Given the description of an element on the screen output the (x, y) to click on. 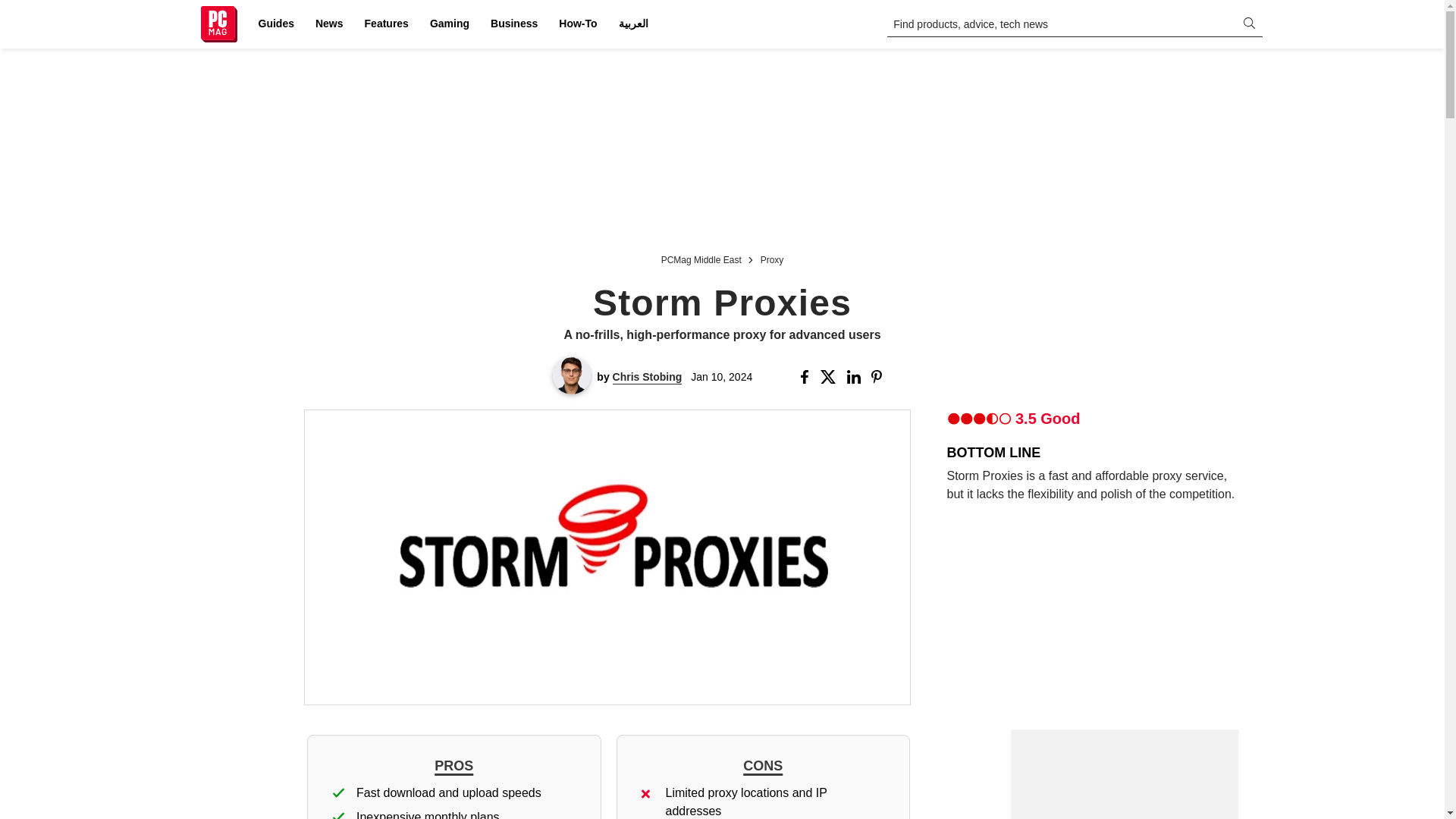
Search (21, 7)
Business (513, 24)
Share this Story on Facebook (806, 377)
Share this Story on Pinterest (880, 377)
Gaming (449, 24)
Chris Stobing (647, 377)
Share this Story on Linkedin (855, 377)
Guides (275, 24)
Proxy (772, 258)
Features (386, 24)
PCMag Middle East (701, 258)
Share this Story on X (831, 377)
How-To (577, 24)
